Given the description of an element on the screen output the (x, y) to click on. 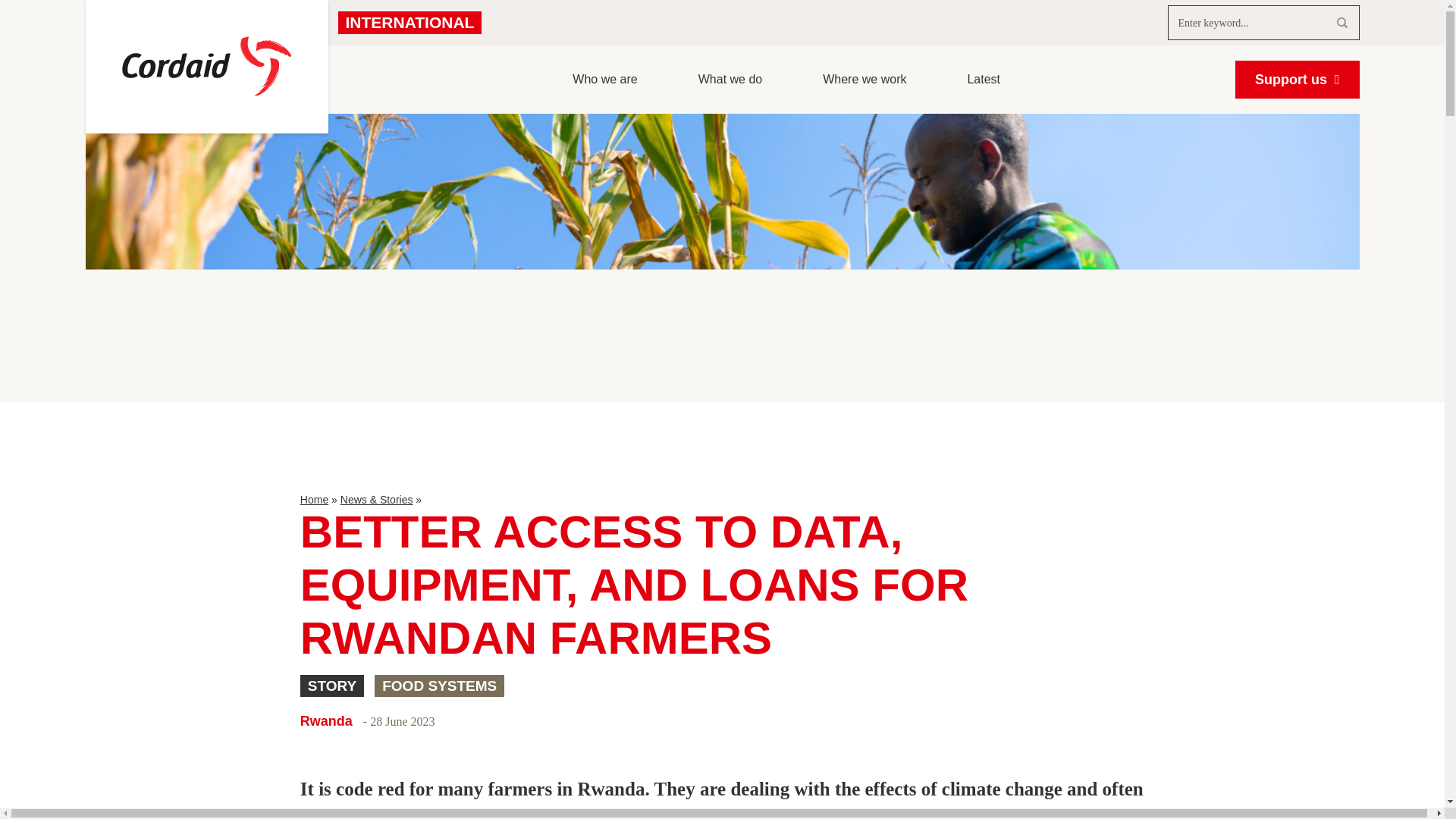
Zoeken (1340, 22)
Zoeken (1340, 22)
Zoeken (1340, 22)
